Given the description of an element on the screen output the (x, y) to click on. 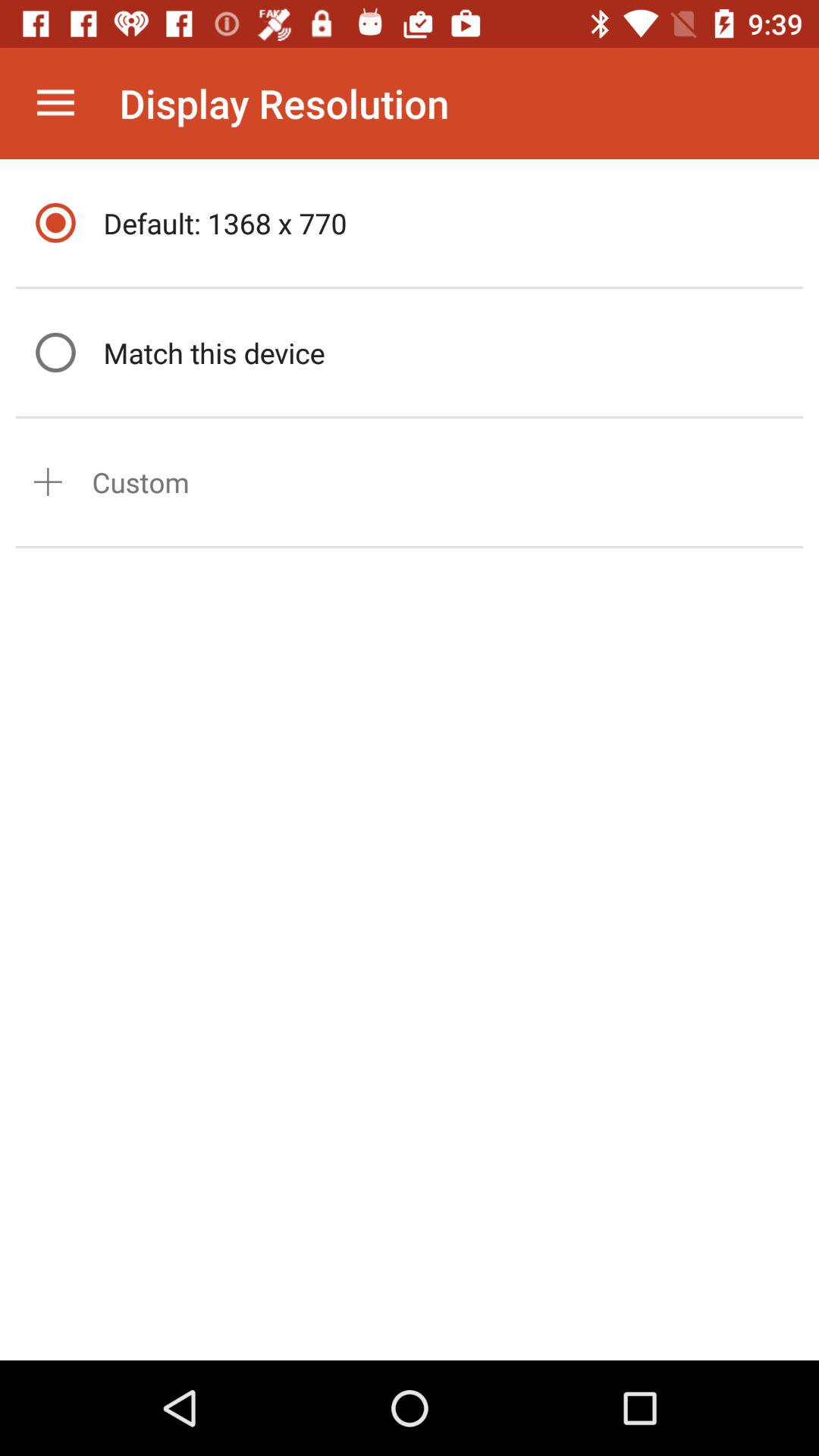
scroll to the default 1368 x (449, 222)
